Given the description of an element on the screen output the (x, y) to click on. 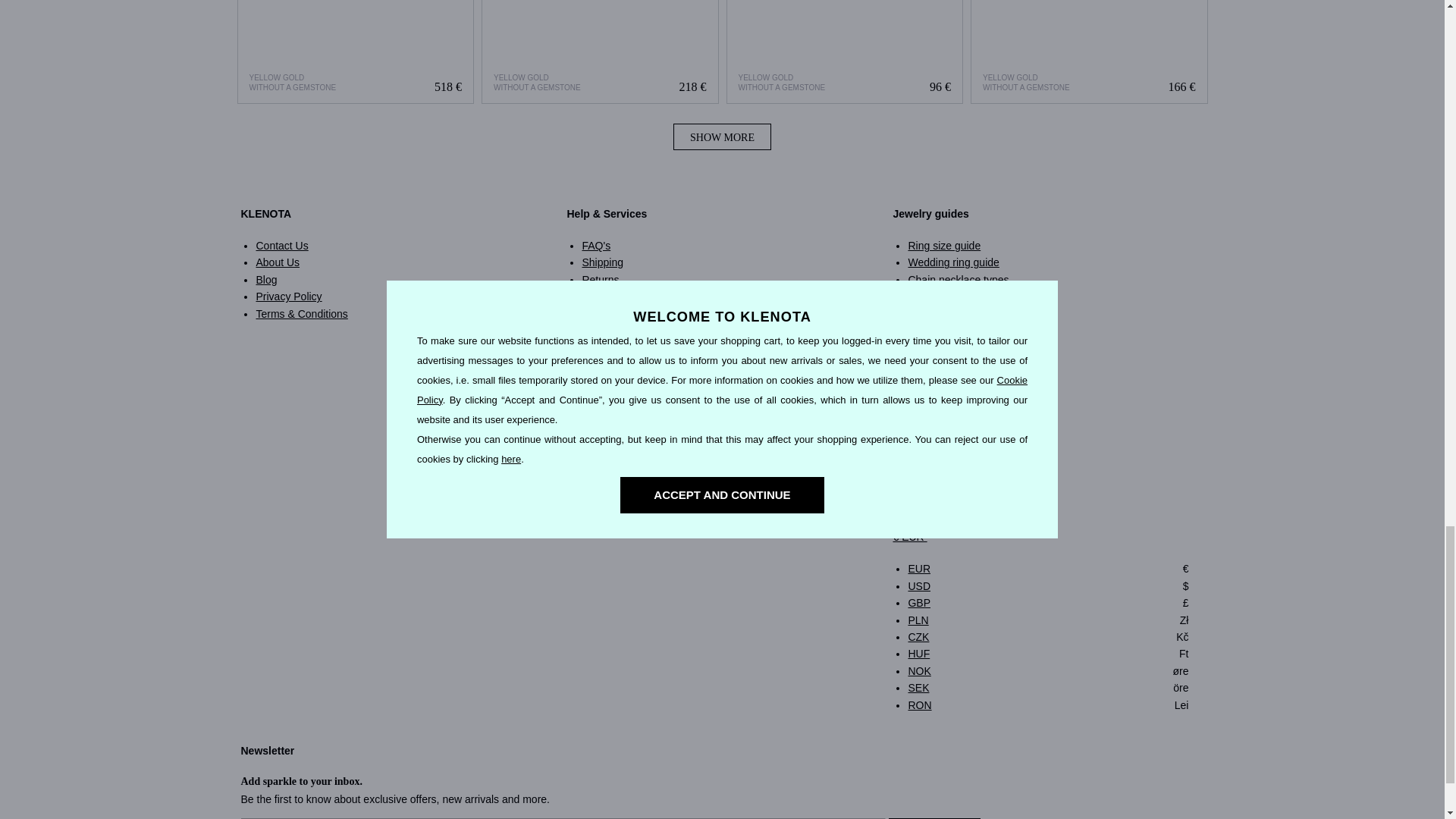
50 cm Gold Rolo Chain (1089, 52)
Ladies 45 cm Rolo Chain Necklace in Gold (600, 52)
Ladies Necklace in Yellow Gold (354, 52)
Ladies Necklace in Yellow Gold (356, 51)
50 cm Gold Rolo Chain (1089, 51)
Anchor Chain in Yellow Gold (844, 51)
Anchor Chain in Yellow Gold (844, 52)
Ladies 45 cm Rolo Chain Necklace in Gold (599, 51)
